Given the description of an element on the screen output the (x, y) to click on. 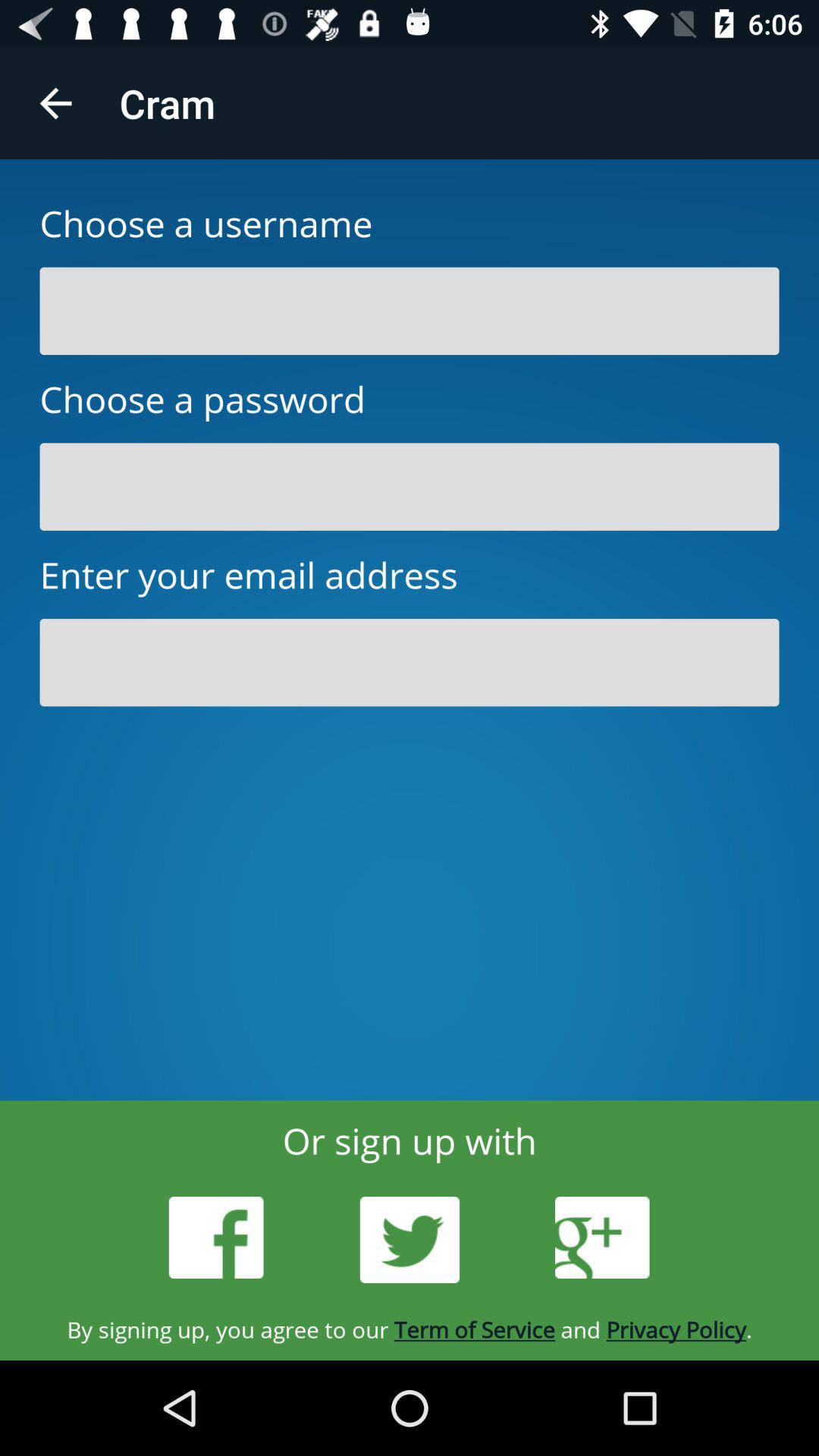
email address (409, 662)
